Given the description of an element on the screen output the (x, y) to click on. 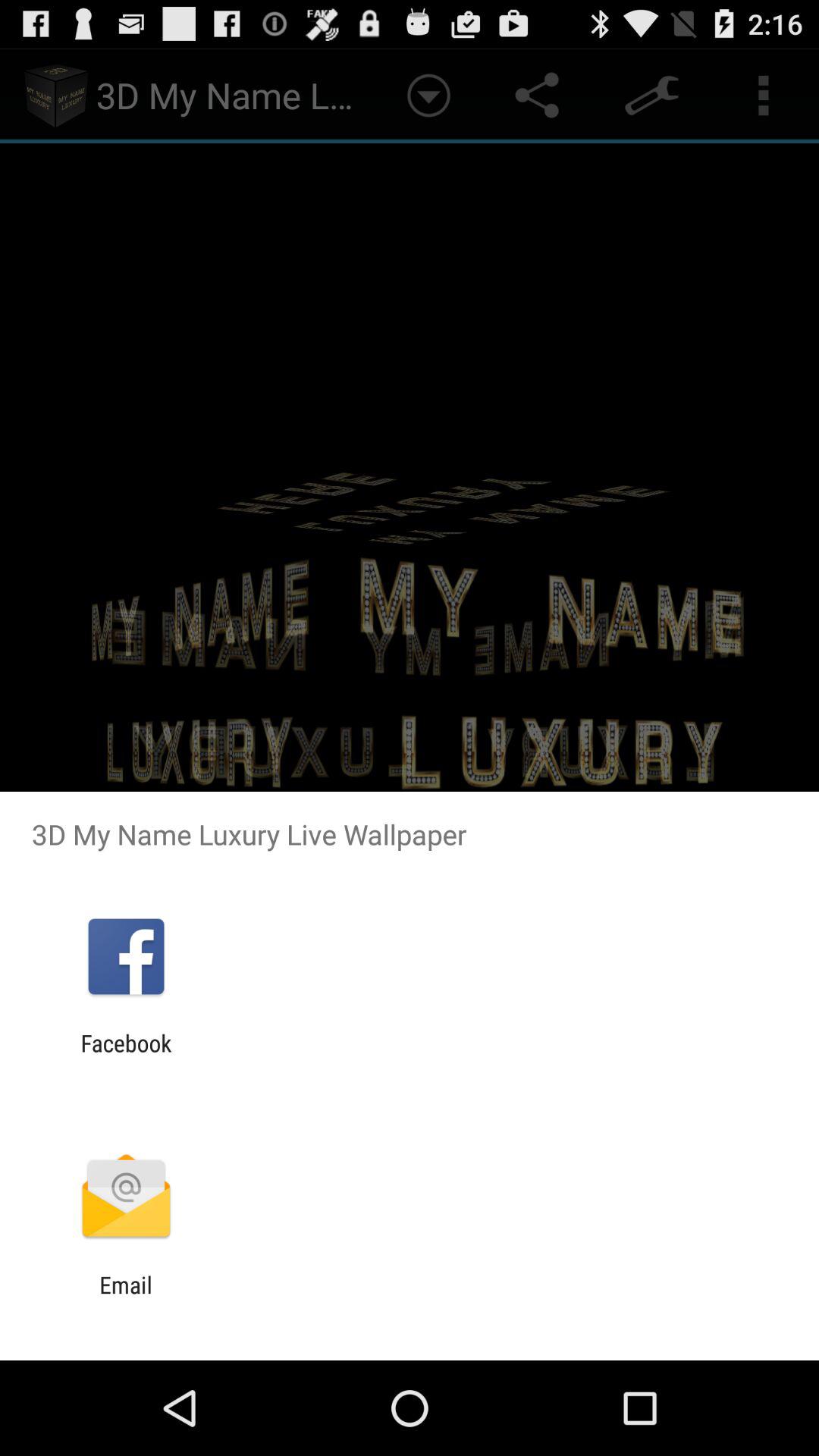
click facebook item (125, 1056)
